Given the description of an element on the screen output the (x, y) to click on. 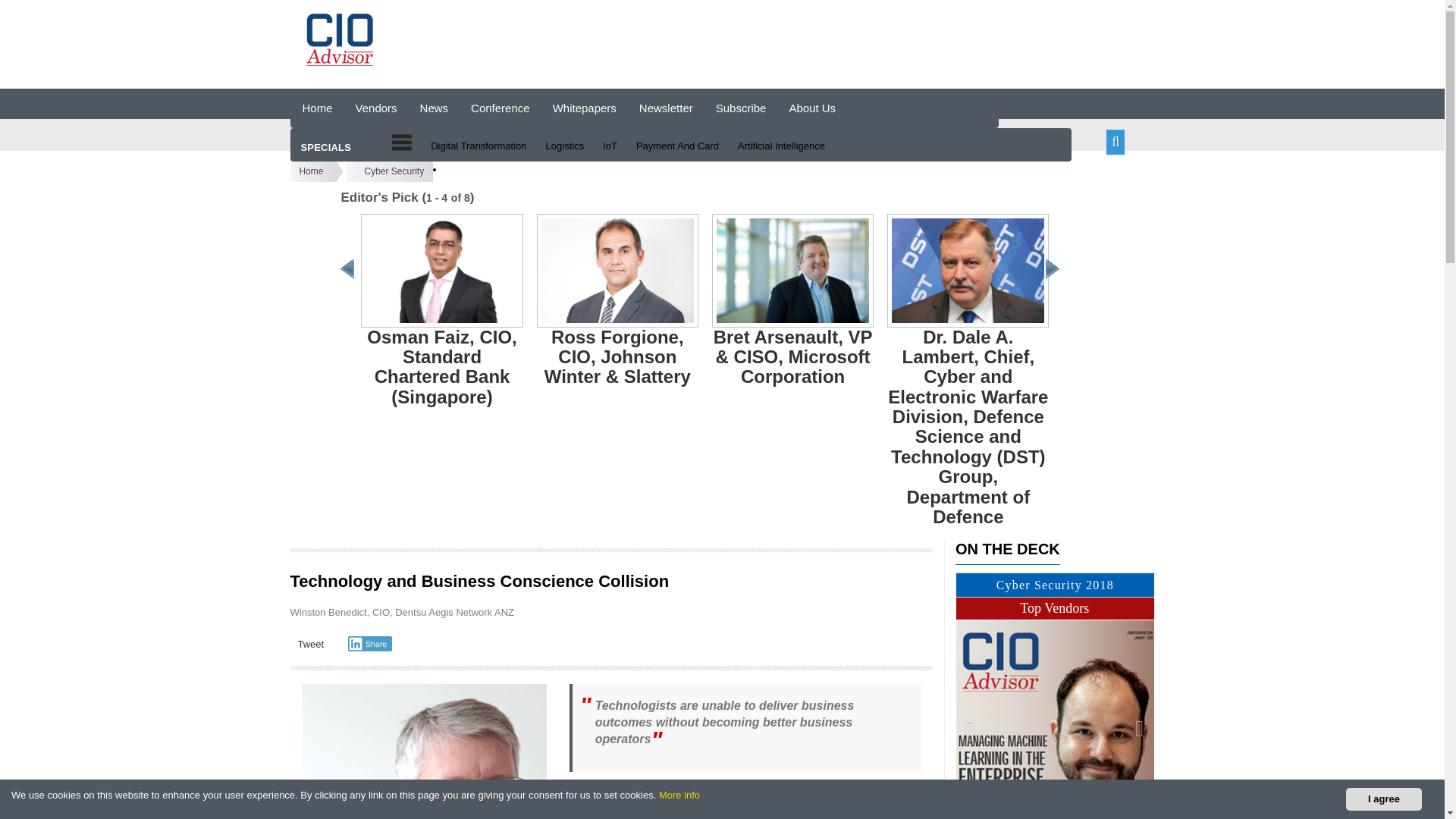
Newsletter (665, 108)
Vendors (376, 108)
Conference (500, 108)
Home (317, 108)
News (434, 108)
Digital Transformation (480, 146)
Advertisement (709, 41)
About Us (812, 108)
Subscribe (740, 108)
Menu (401, 141)
Whitepapers (584, 108)
CIOAdvisor APAC Magazine (339, 36)
